Given the description of an element on the screen output the (x, y) to click on. 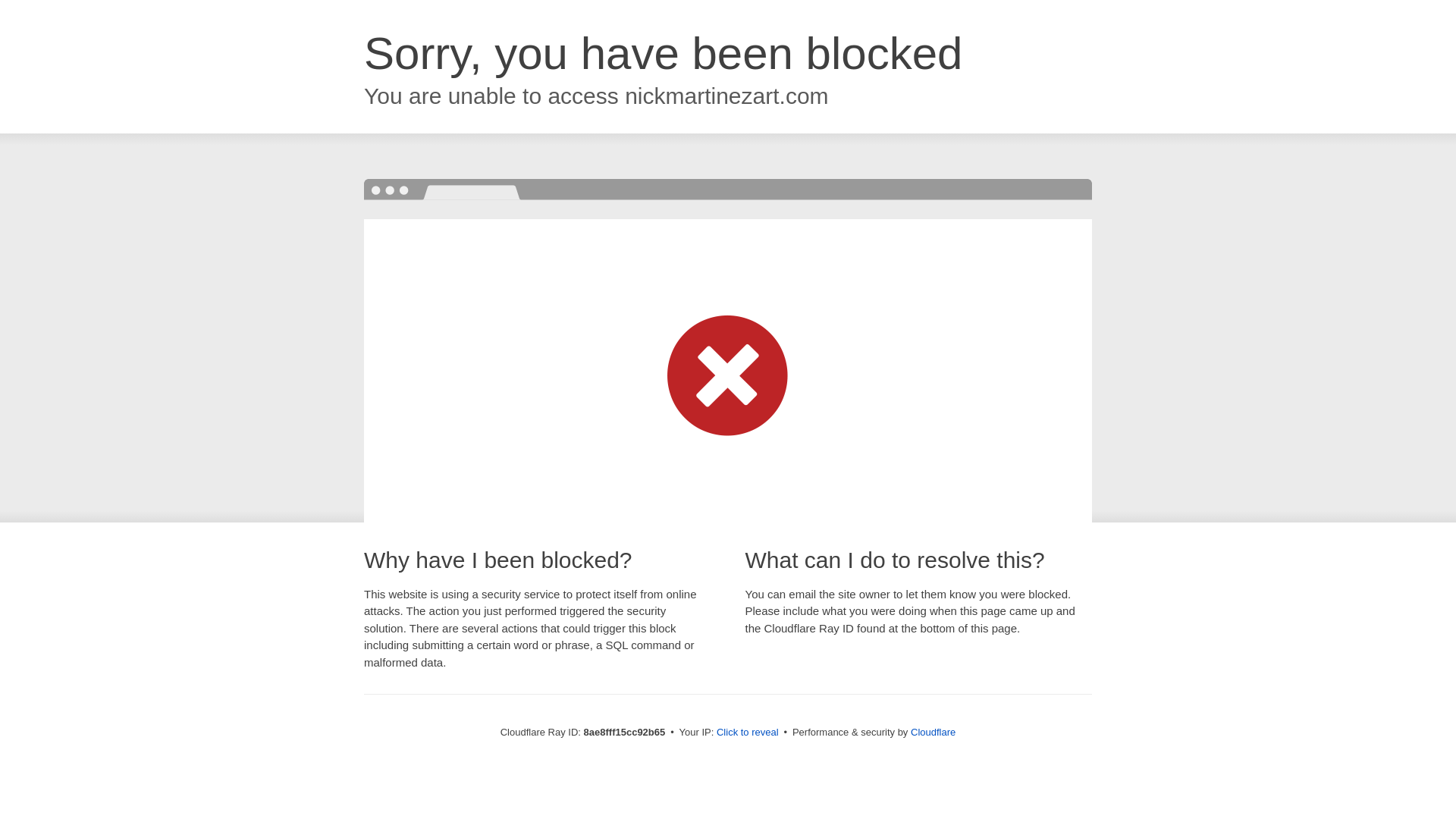
Click to reveal (747, 732)
Cloudflare (933, 731)
